Given the description of an element on the screen output the (x, y) to click on. 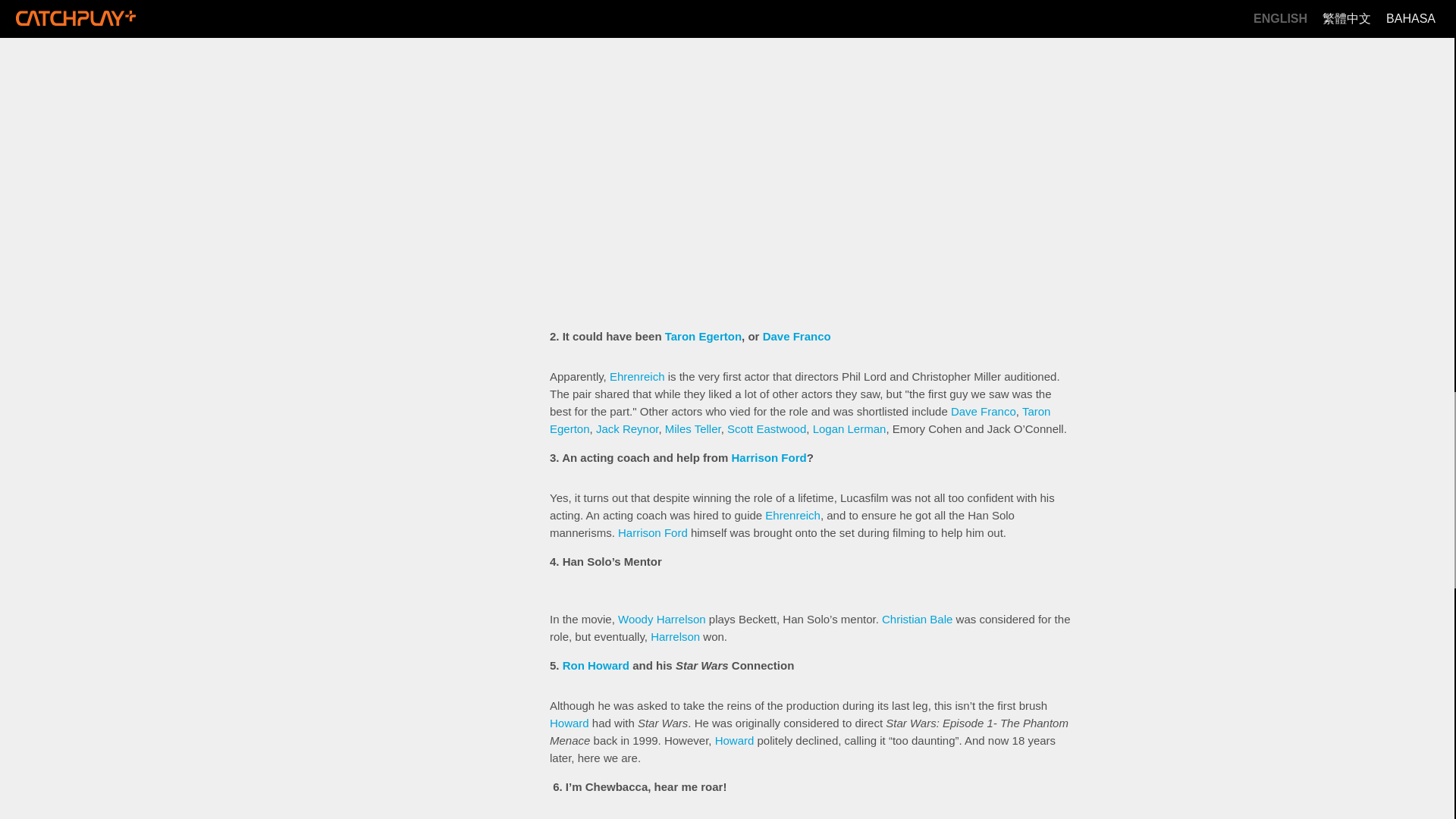
Harrison Ford (768, 457)
Christian Bale (917, 618)
Scott Eastwood (766, 428)
Jack Reynor (627, 428)
Howard (734, 739)
Howard (569, 722)
Miles Teller (692, 428)
Harrelson (675, 635)
Harrison Ford (652, 532)
Woody Harrelson (661, 618)
Taron Egerton (799, 419)
Ron Howard (595, 665)
Taron Egerton (703, 336)
Ehrenreich (793, 514)
Logan Lerman (849, 428)
